Given the description of an element on the screen output the (x, y) to click on. 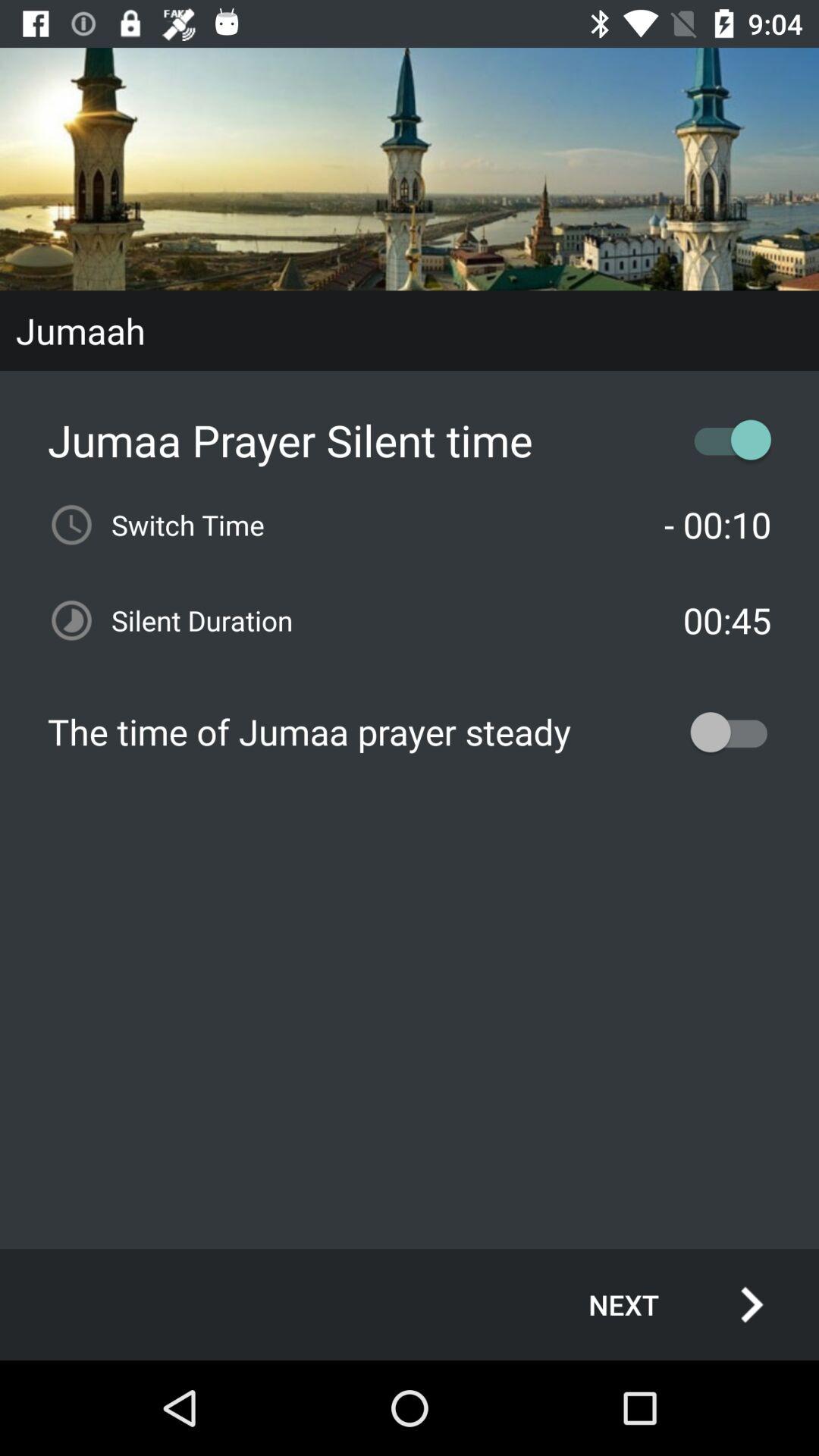
open the the time of item (409, 731)
